Given the description of an element on the screen output the (x, y) to click on. 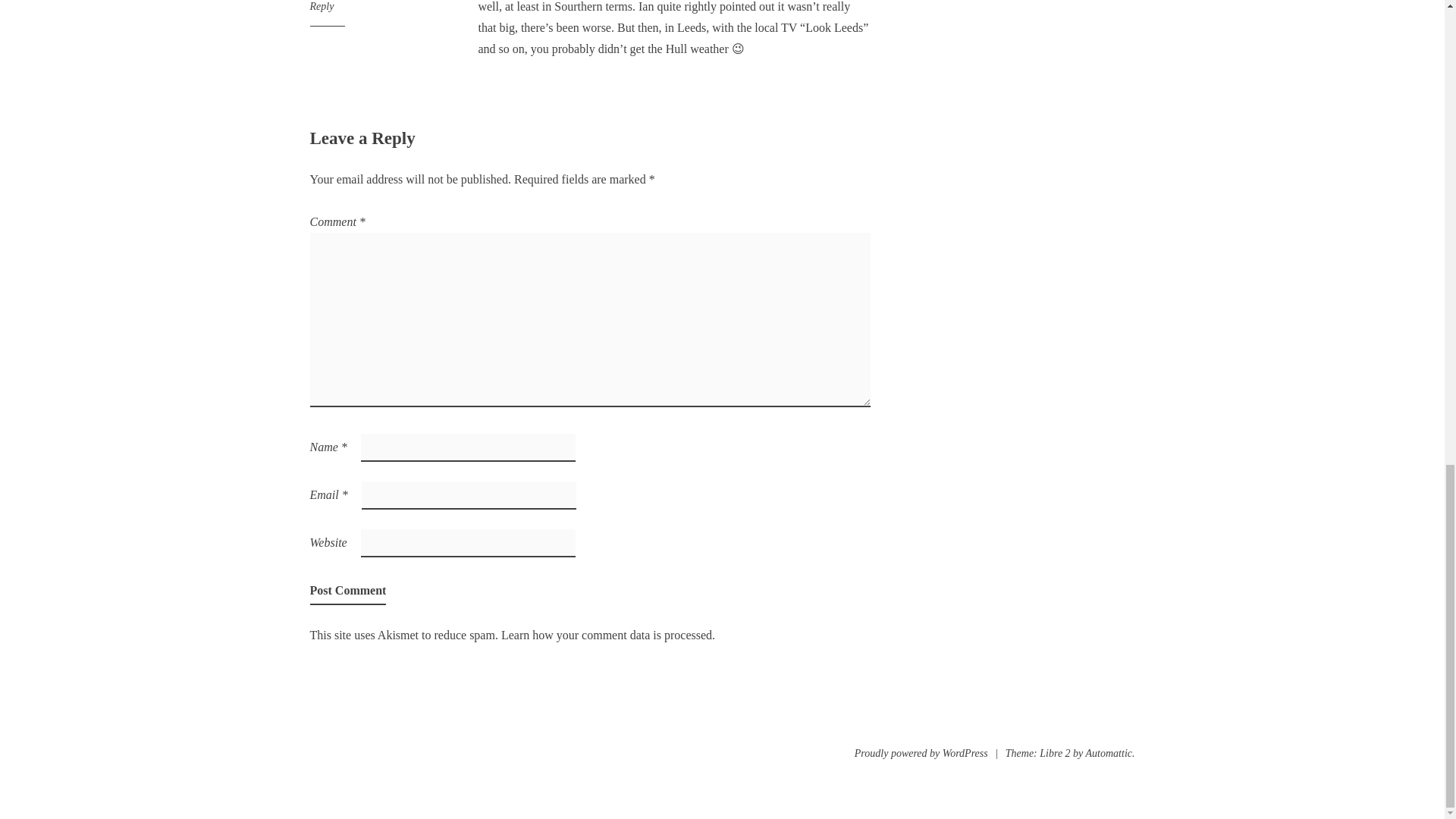
Reply (320, 6)
Post Comment (346, 590)
Post Comment (346, 590)
Learn how your comment data is processed (605, 634)
Automattic (1109, 753)
Proudly powered by WordPress (921, 753)
